Given the description of an element on the screen output the (x, y) to click on. 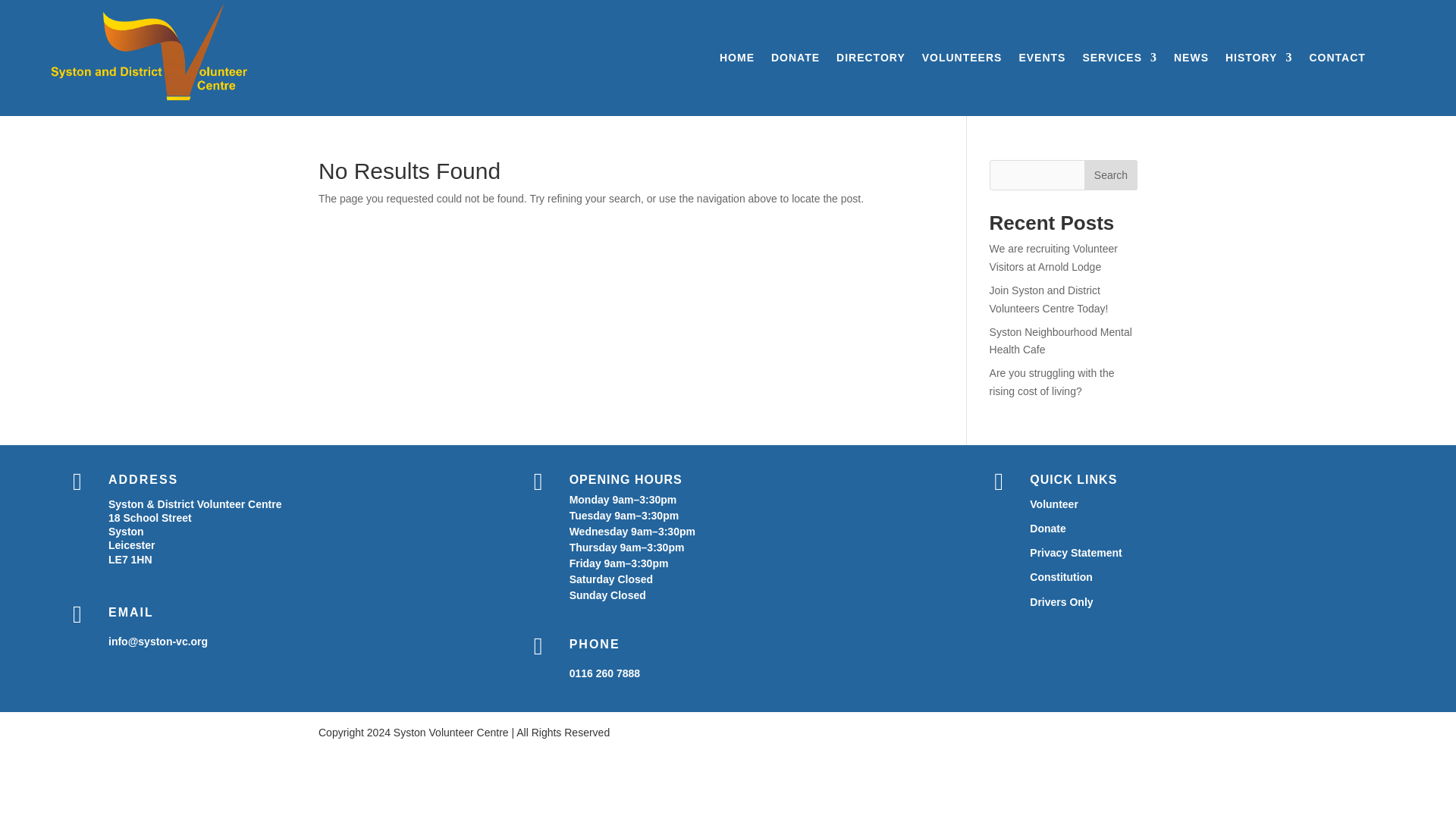
HOME (736, 60)
Privacy Statement (1075, 552)
Constitution (1060, 576)
Logo 2022 transparency (174, 52)
Are you struggling with the rising cost of living? (1052, 381)
CONTACT (1336, 60)
DIRECTORY (870, 60)
VOLUNTEERS (962, 60)
Volunteer (1053, 503)
Syston Neighbourhood Mental Health Cafe (1061, 340)
NEWS (1190, 60)
Search (1110, 174)
SERVICES (1119, 60)
DONATE (795, 60)
HISTORY (1258, 60)
